Given the description of an element on the screen output the (x, y) to click on. 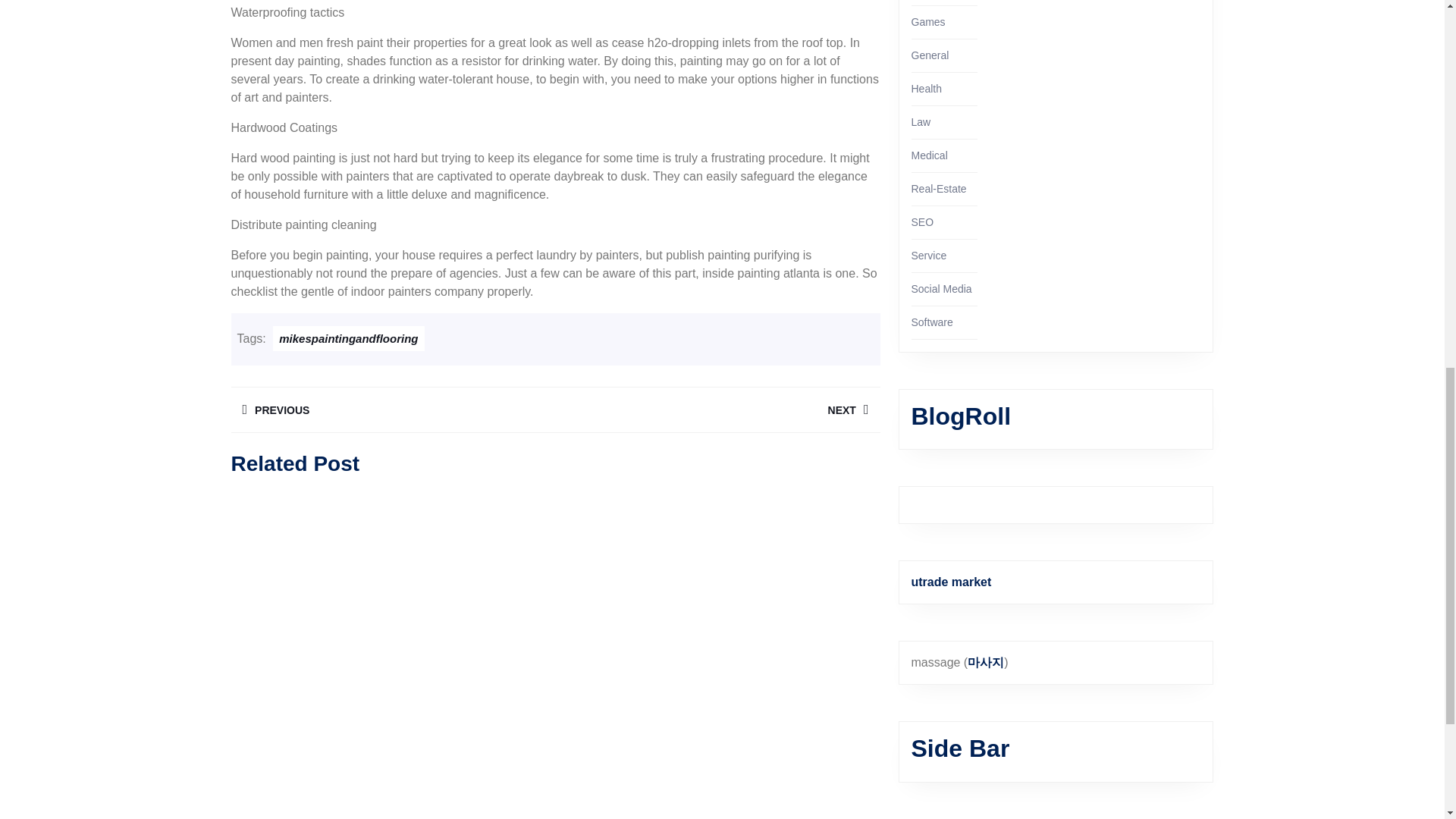
General (930, 55)
Health (716, 409)
Games (926, 88)
mikespaintingandflooring (392, 409)
